Given the description of an element on the screen output the (x, y) to click on. 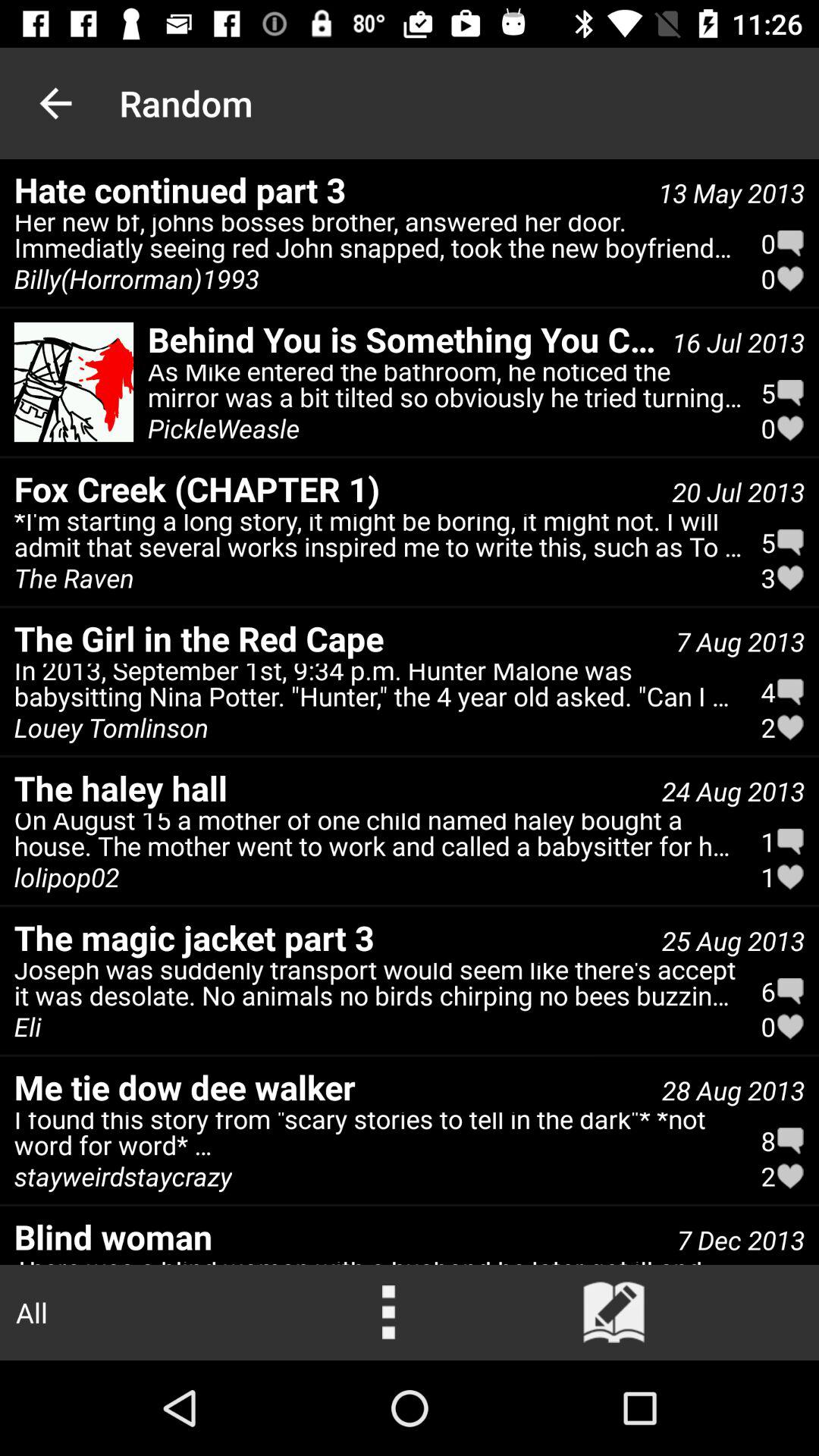
launch hate continued part (329, 189)
